Given the description of an element on the screen output the (x, y) to click on. 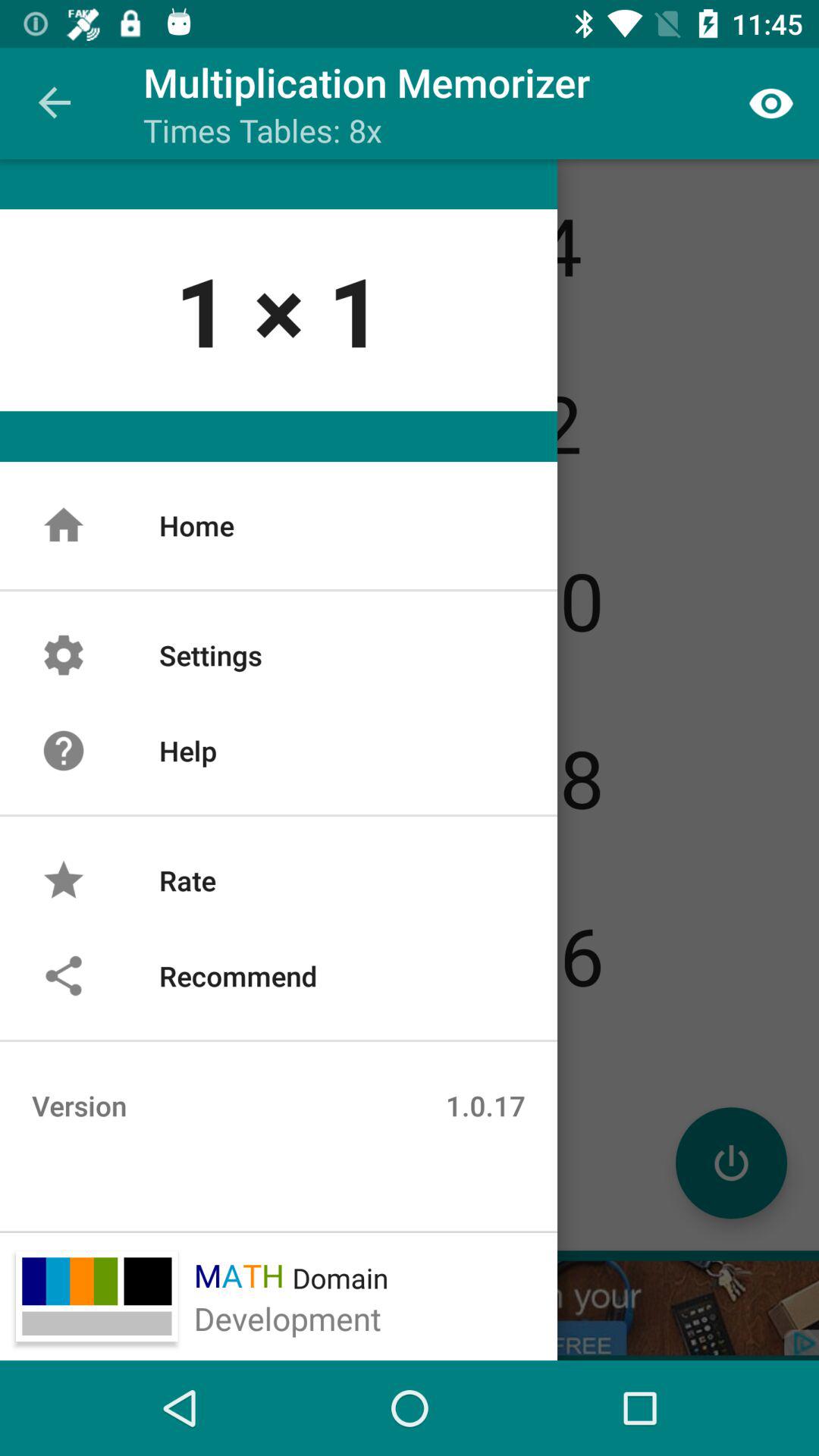
click on the share image button to the left of recommend text (63, 975)
select the icon which is at the top right of the page (771, 103)
